Given the description of an element on the screen output the (x, y) to click on. 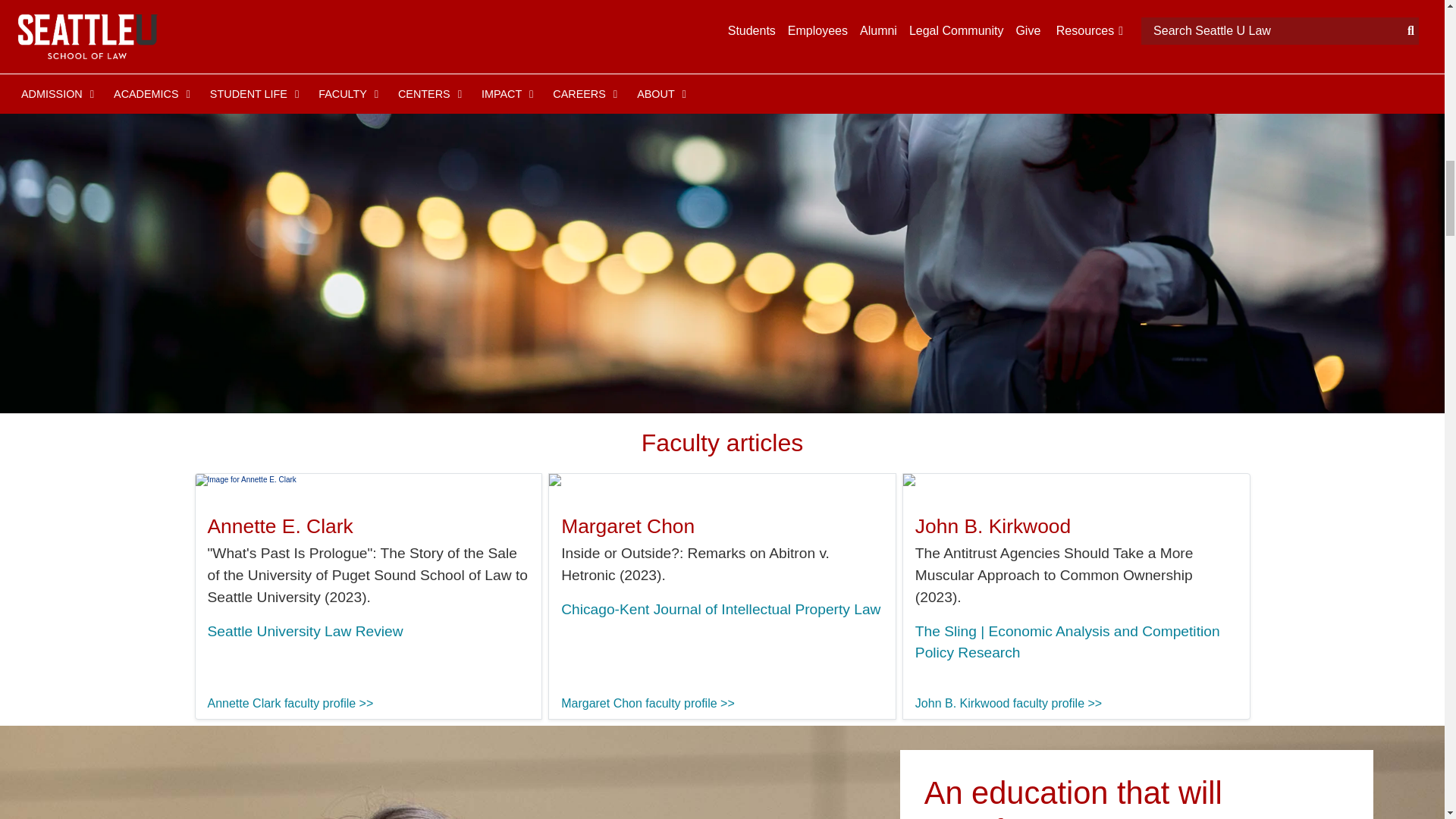
digitalcommons.law.seattleu.edu (305, 631)
thesling.org (1067, 641)
scholarship.kentlaw.iit.edu (720, 609)
